Given the description of an element on the screen output the (x, y) to click on. 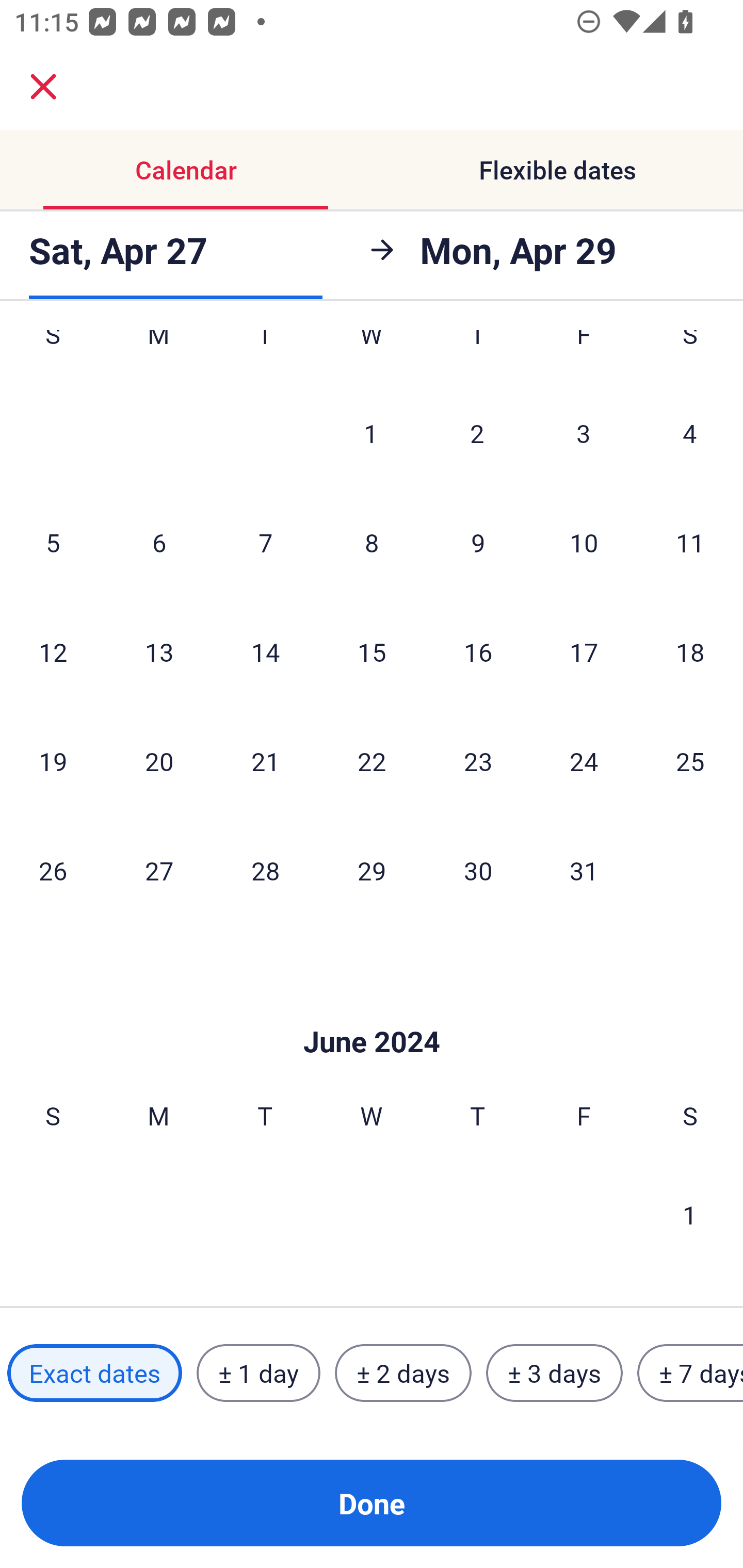
close. (43, 86)
Flexible dates (557, 170)
1 Wednesday, May 1, 2024 (371, 432)
2 Thursday, May 2, 2024 (477, 432)
3 Friday, May 3, 2024 (583, 432)
4 Saturday, May 4, 2024 (689, 432)
5 Sunday, May 5, 2024 (53, 542)
6 Monday, May 6, 2024 (159, 542)
7 Tuesday, May 7, 2024 (265, 542)
8 Wednesday, May 8, 2024 (371, 542)
9 Thursday, May 9, 2024 (477, 542)
10 Friday, May 10, 2024 (584, 542)
11 Saturday, May 11, 2024 (690, 542)
12 Sunday, May 12, 2024 (53, 651)
13 Monday, May 13, 2024 (159, 651)
14 Tuesday, May 14, 2024 (265, 651)
15 Wednesday, May 15, 2024 (371, 651)
16 Thursday, May 16, 2024 (477, 651)
17 Friday, May 17, 2024 (584, 651)
18 Saturday, May 18, 2024 (690, 651)
19 Sunday, May 19, 2024 (53, 760)
20 Monday, May 20, 2024 (159, 760)
21 Tuesday, May 21, 2024 (265, 760)
22 Wednesday, May 22, 2024 (371, 760)
23 Thursday, May 23, 2024 (477, 760)
24 Friday, May 24, 2024 (584, 760)
25 Saturday, May 25, 2024 (690, 760)
26 Sunday, May 26, 2024 (53, 869)
27 Monday, May 27, 2024 (159, 869)
28 Tuesday, May 28, 2024 (265, 869)
29 Wednesday, May 29, 2024 (371, 869)
30 Thursday, May 30, 2024 (477, 869)
31 Friday, May 31, 2024 (584, 869)
Skip to Done (371, 1010)
1 Saturday, June 1, 2024 (689, 1213)
Exact dates (94, 1372)
± 1 day (258, 1372)
± 2 days (403, 1372)
± 3 days (553, 1372)
± 7 days (690, 1372)
Done (371, 1502)
